Given the description of an element on the screen output the (x, y) to click on. 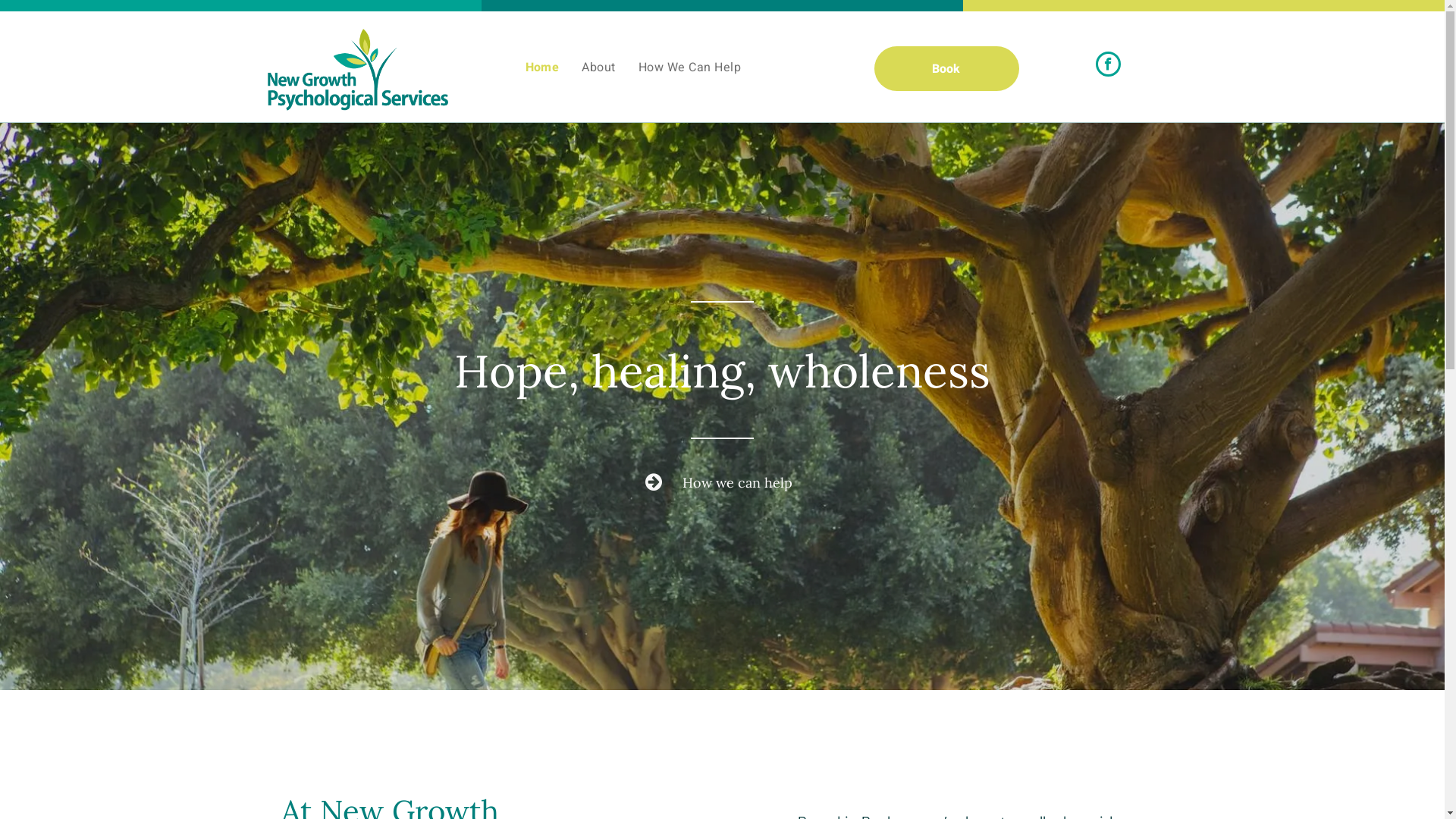
How we can help Element type: text (721, 482)
About Element type: text (598, 67)
How We Can Help Element type: text (689, 67)
Home Element type: text (542, 67)
Book Element type: text (945, 68)
